Given the description of an element on the screen output the (x, y) to click on. 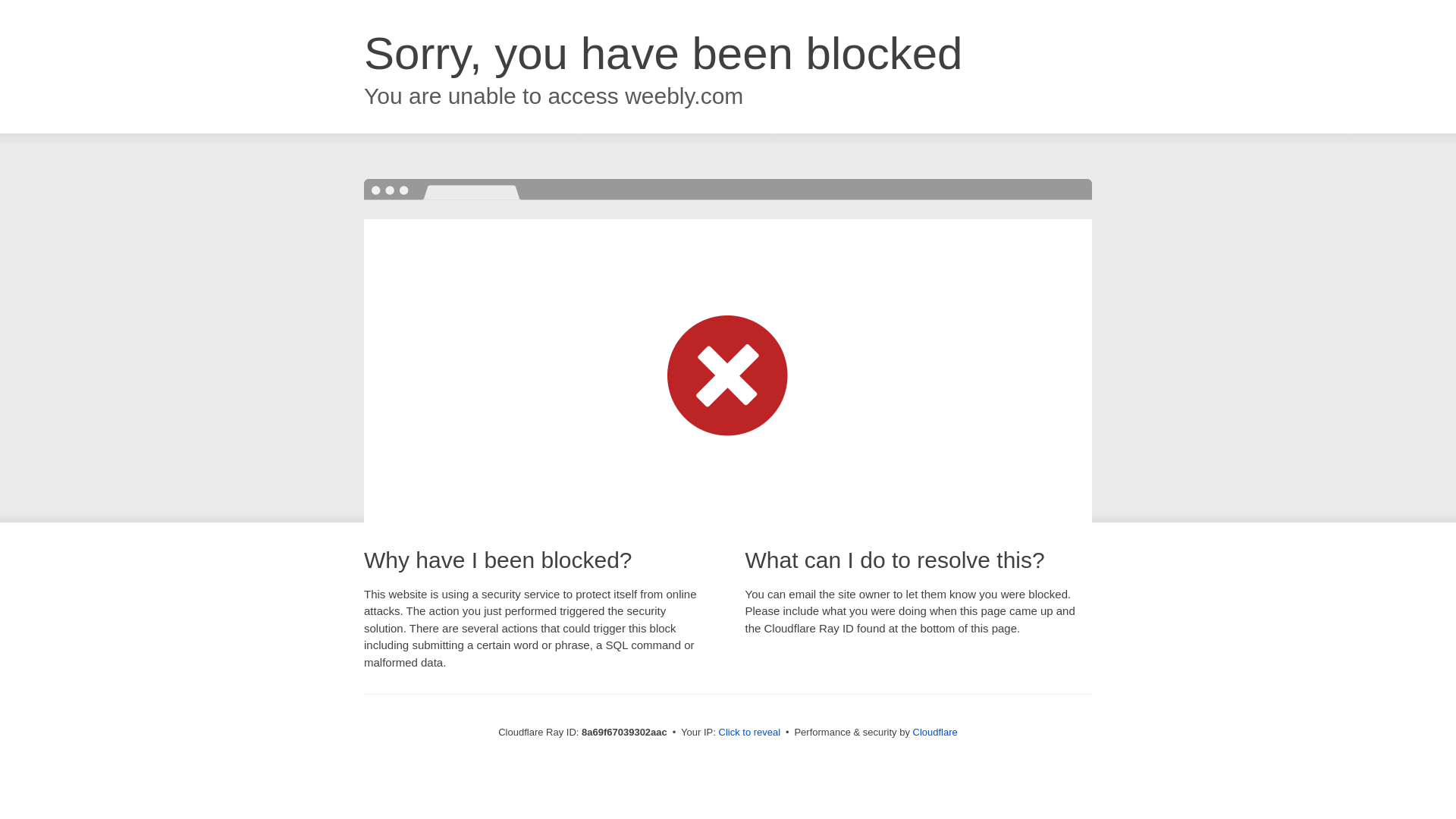
Cloudflare (935, 731)
Click to reveal (749, 732)
